Given the description of an element on the screen output the (x, y) to click on. 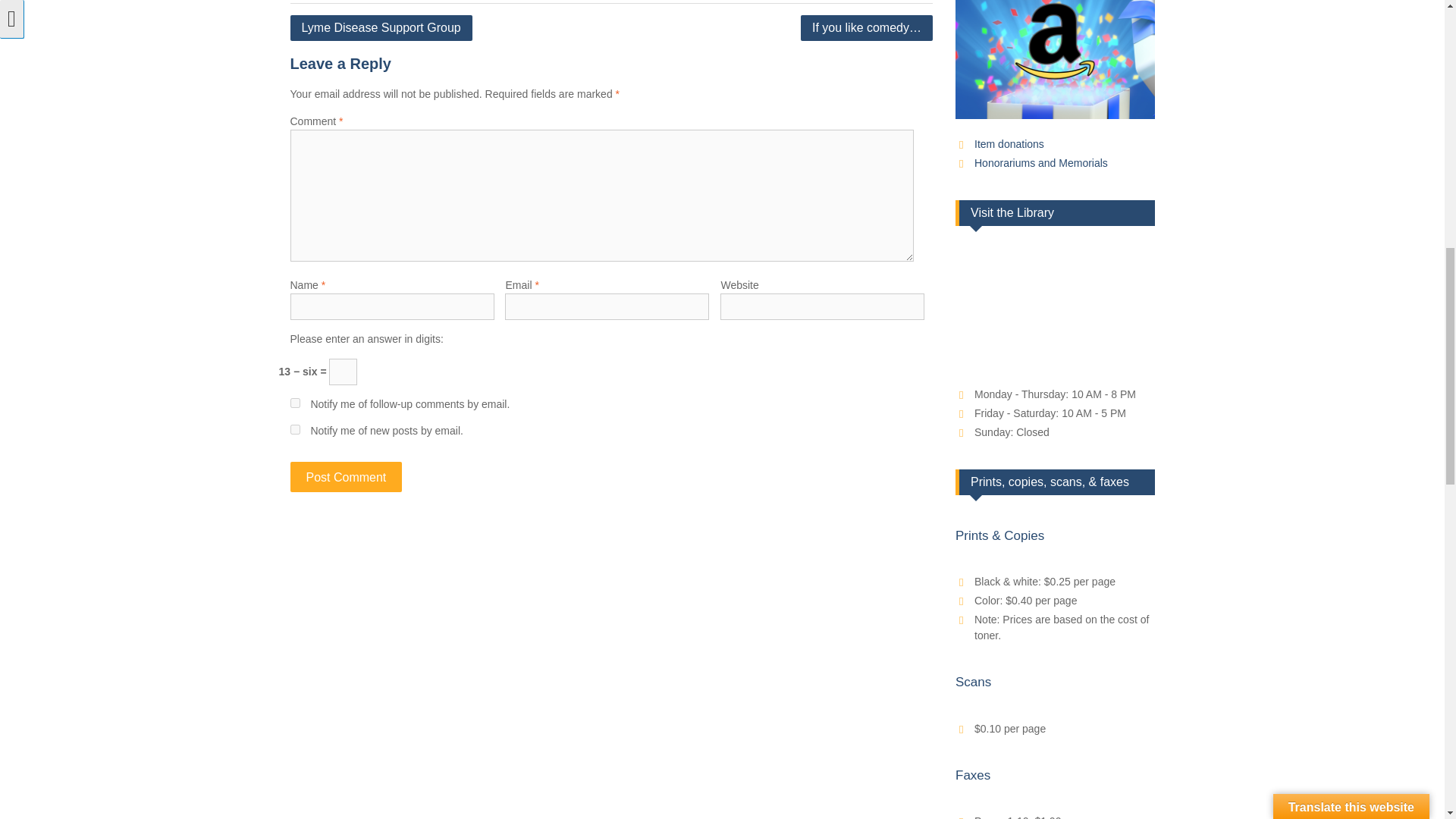
subscribe (294, 402)
Lyme Disease Support Group (380, 27)
subscribe (294, 429)
Post Comment (345, 476)
